Given the description of an element on the screen output the (x, y) to click on. 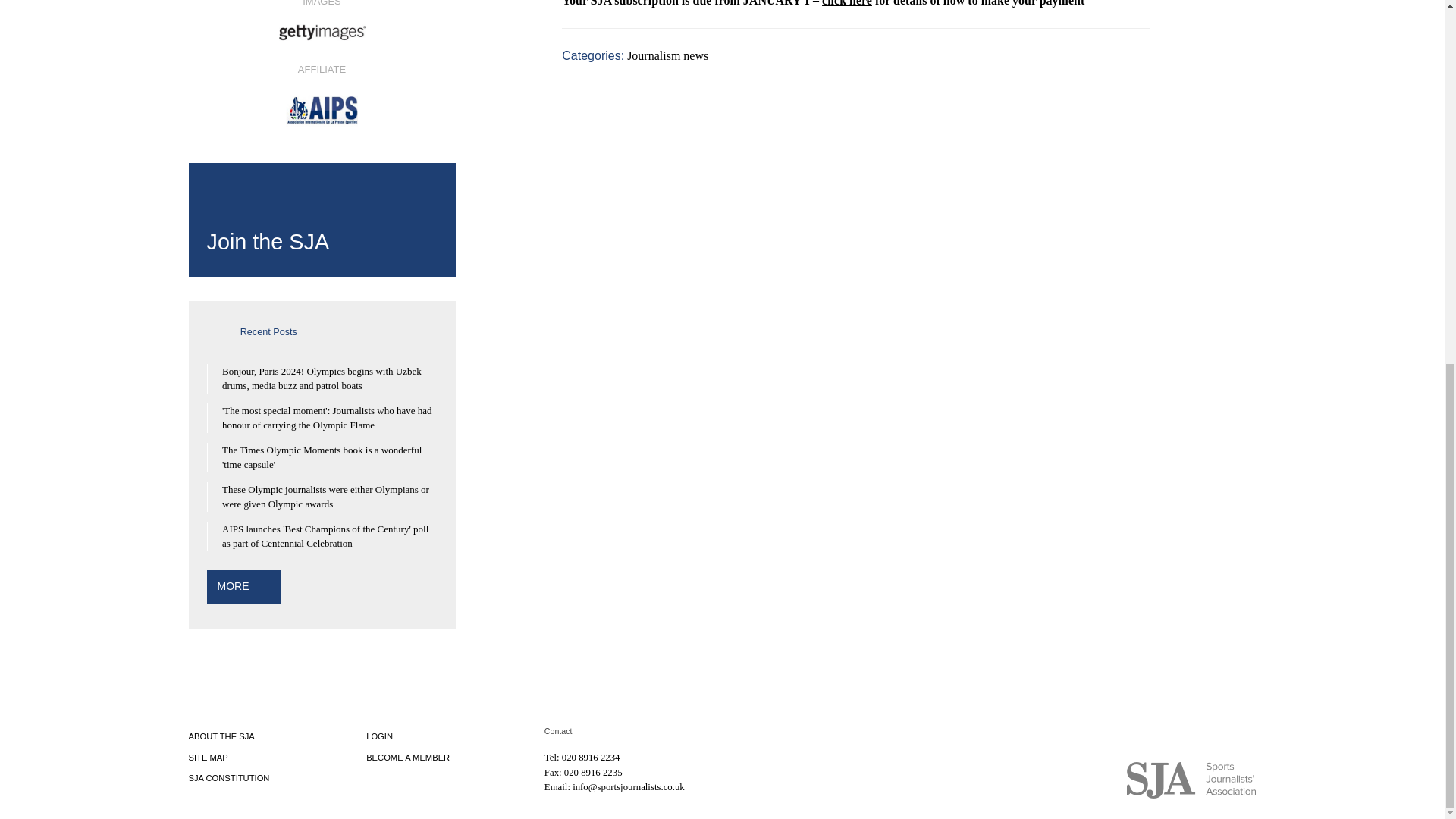
The Times Olympic Moments book is a wonderful 'time capsule' (322, 457)
AIPS page (320, 93)
MORE (232, 585)
AFFILIATE (320, 93)
View more posts from the archive (232, 585)
SITE MAP (207, 757)
IMAGES (320, 24)
SJA CONSTITUTION (228, 777)
ABOUT THE SJA (220, 736)
BECOME A MEMBER (407, 757)
LOGIN (379, 736)
